Given the description of an element on the screen output the (x, y) to click on. 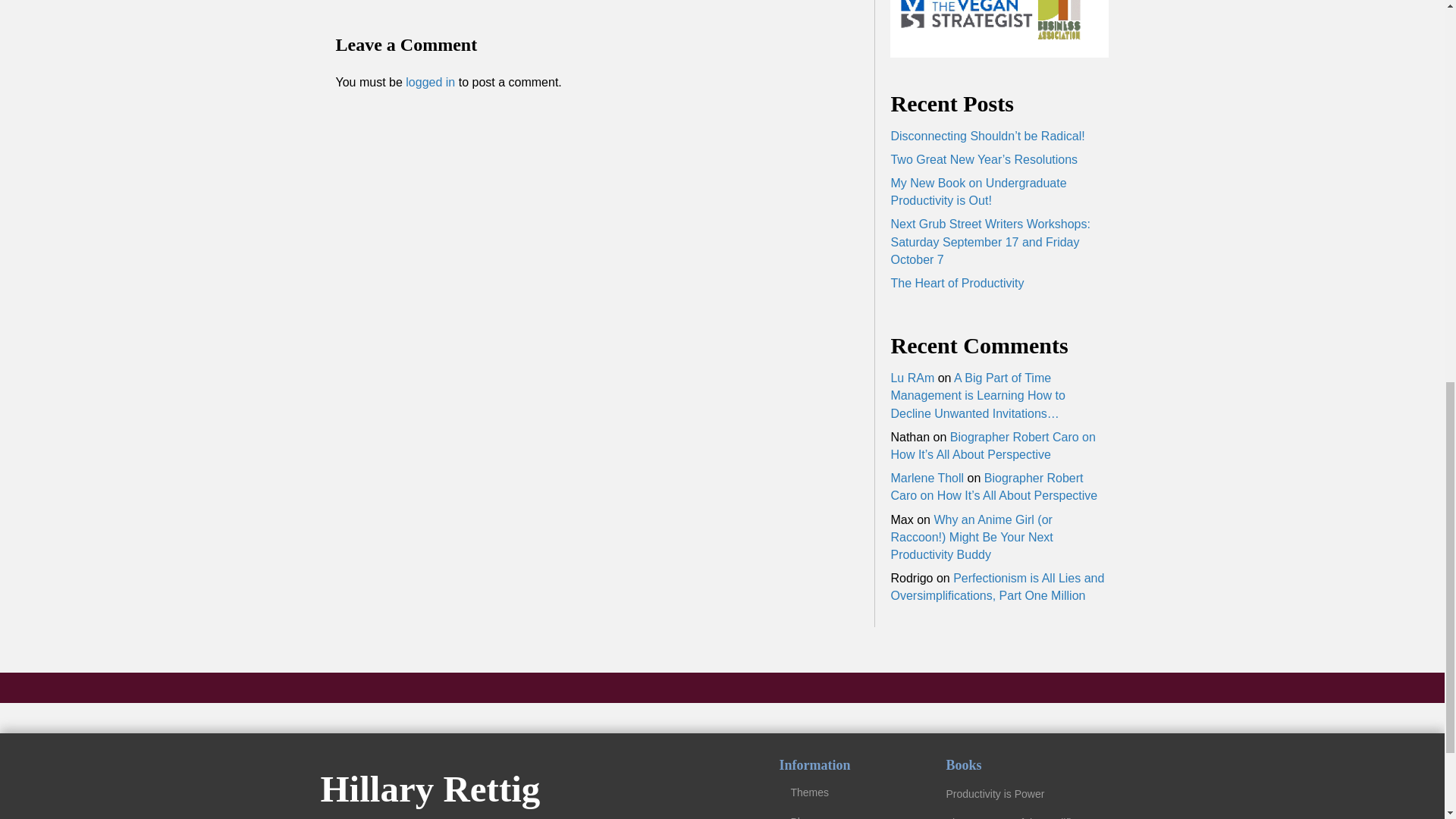
Themes (847, 792)
sidebar-logos-2020 (998, 28)
Hillary Rettig (430, 788)
logged in (430, 82)
My New Book on Undergraduate Productivity is Out! (977, 191)
Hillary Rettig (430, 788)
The Heart of Productivity (956, 282)
Lu RAm (911, 377)
Marlene Tholl (926, 477)
